Given the description of an element on the screen output the (x, y) to click on. 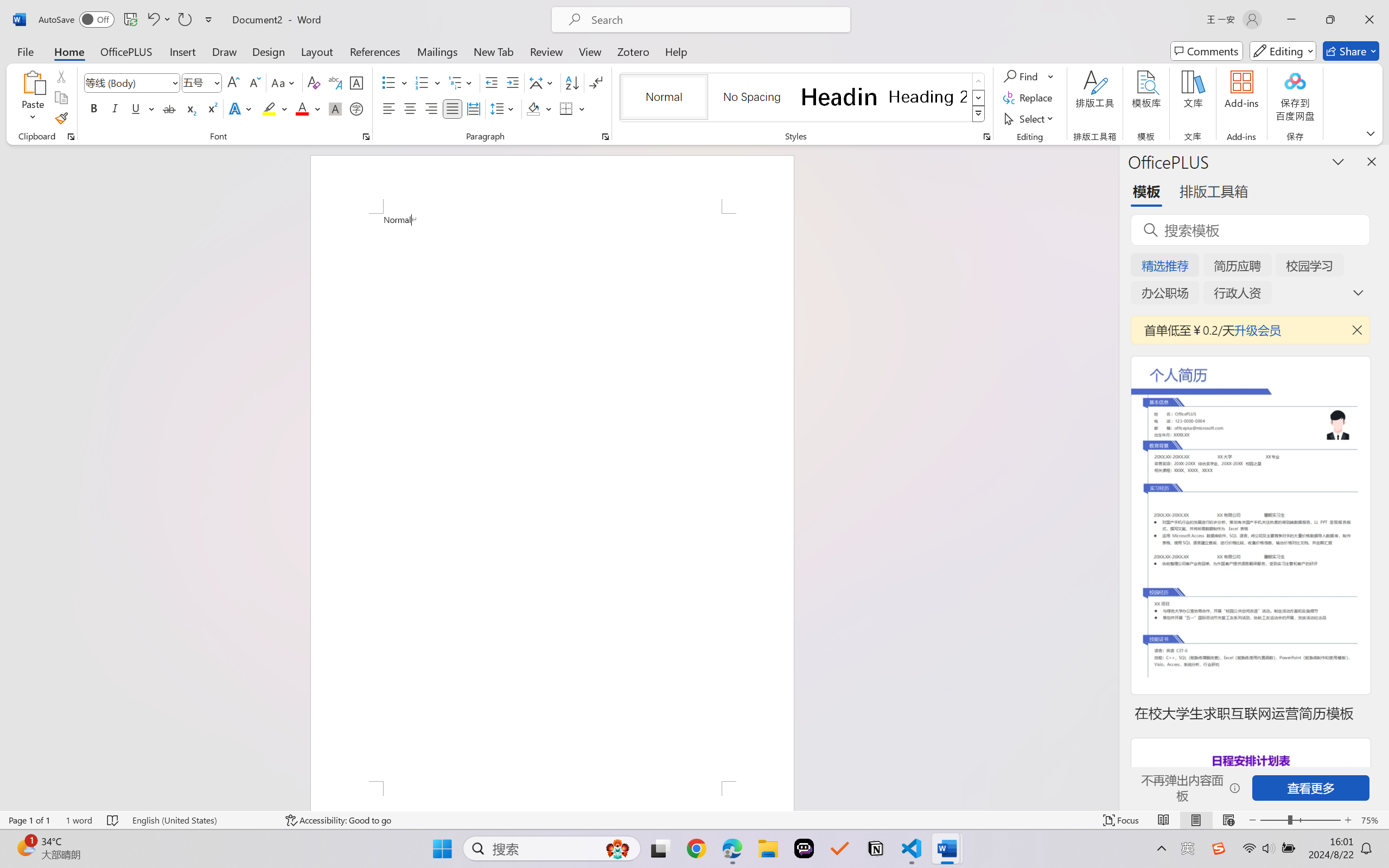
Character Border (356, 82)
Quick Access Toolbar (127, 19)
Styles... (986, 136)
Restore Down (1330, 19)
Cut (60, 75)
Layout (316, 51)
Clear Formatting (313, 82)
View (589, 51)
Heading 1 (839, 96)
Shading RGB(0, 0, 0) (533, 108)
Heading 2 (927, 96)
Character Shading (334, 108)
Align Right (431, 108)
